Given the description of an element on the screen output the (x, y) to click on. 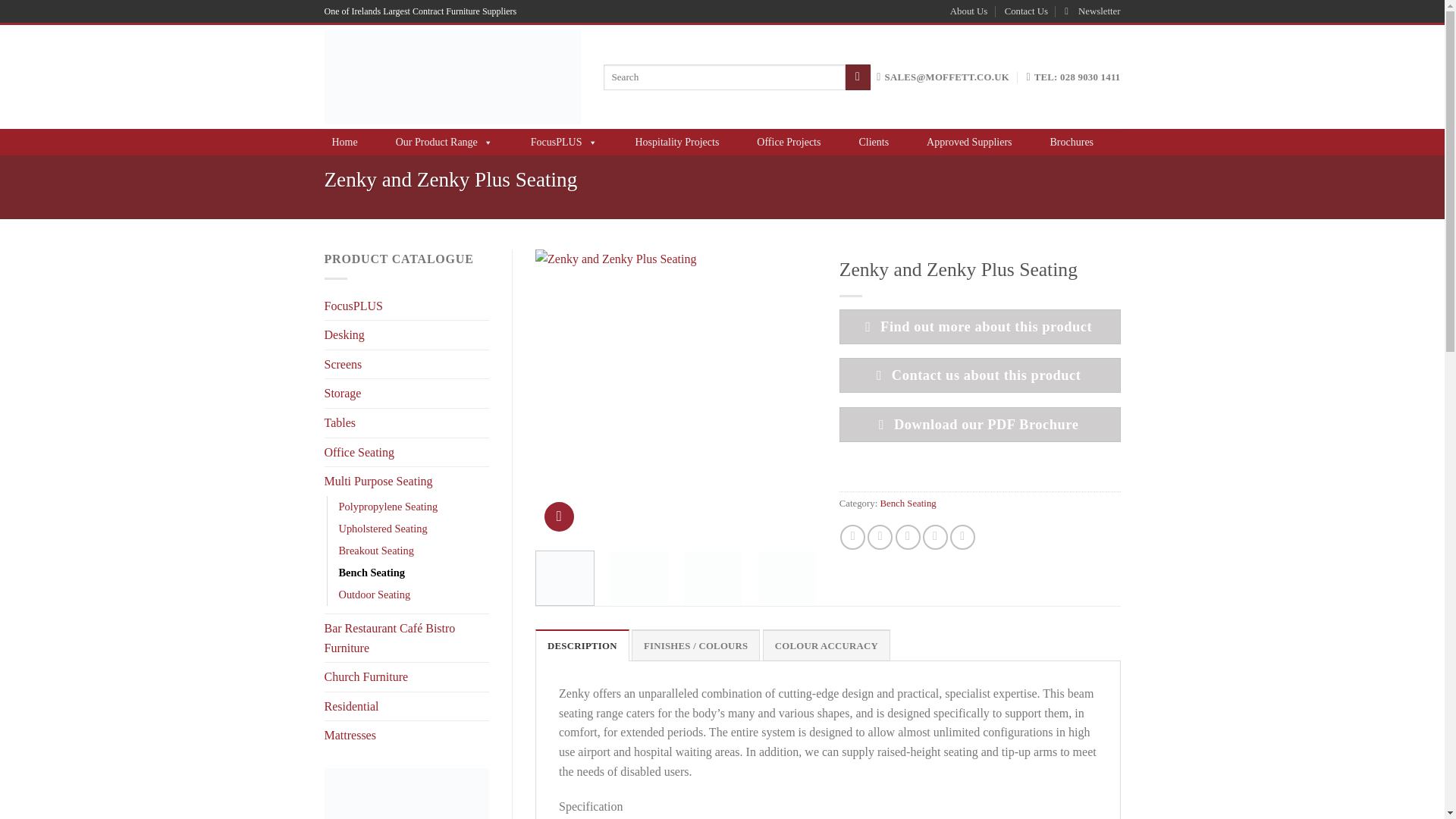
Sign up for Our Newsletter (1091, 11)
Tel: 028 9030 1411 (1072, 77)
Our Product Range (444, 142)
Share on Twitter (879, 536)
Email to a Friend (907, 536)
Contact Us (1026, 11)
About Us (968, 11)
Zoom (558, 516)
Share on Facebook (852, 536)
Pin on Pinterest (935, 536)
